Given the description of an element on the screen output the (x, y) to click on. 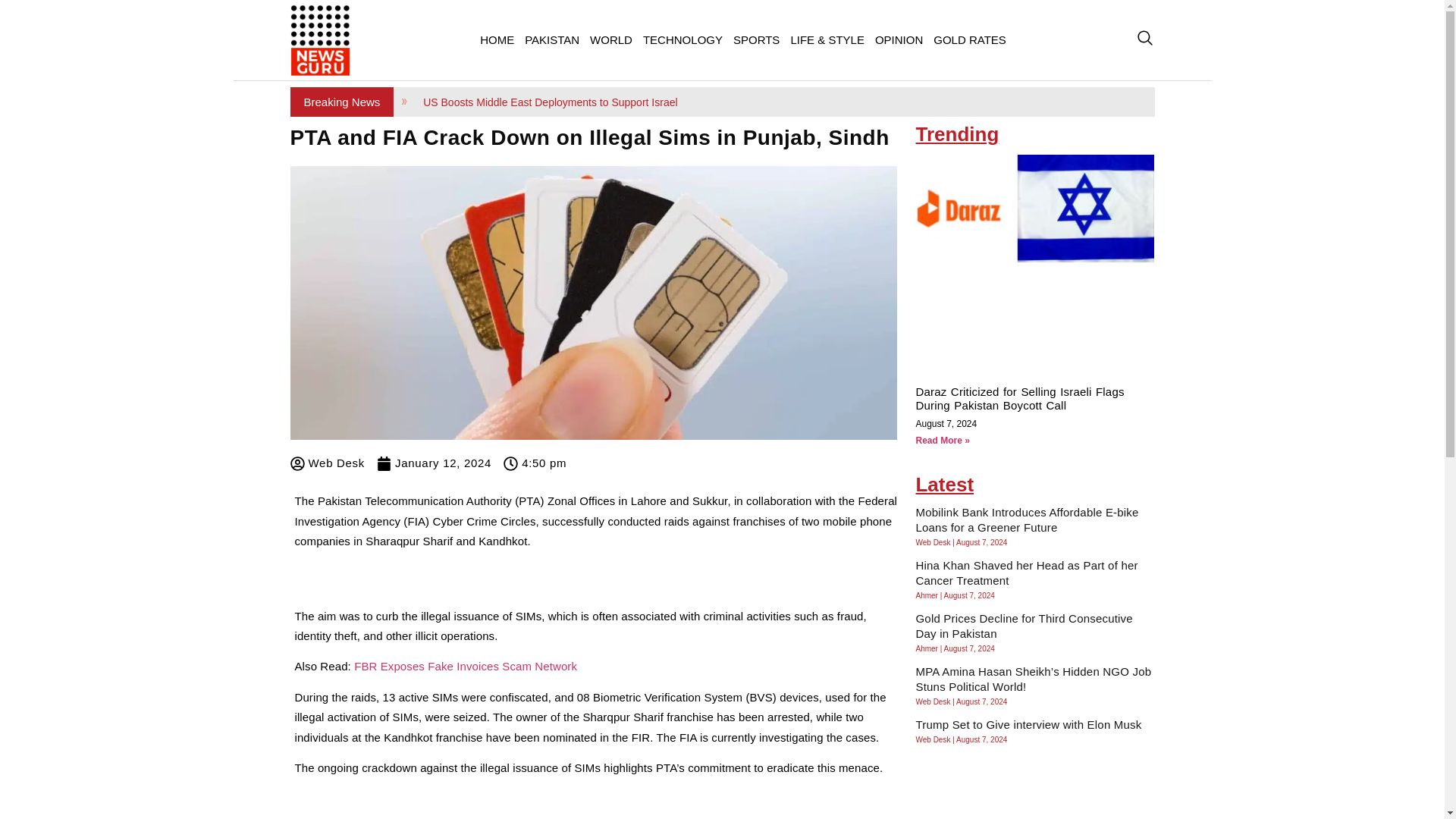
GOLD RATES (969, 39)
HOME (496, 39)
PAKISTAN (552, 39)
SPORTS (756, 39)
OPINION (898, 39)
WORLD (611, 39)
TECHNOLOGY (682, 39)
